Given the description of an element on the screen output the (x, y) to click on. 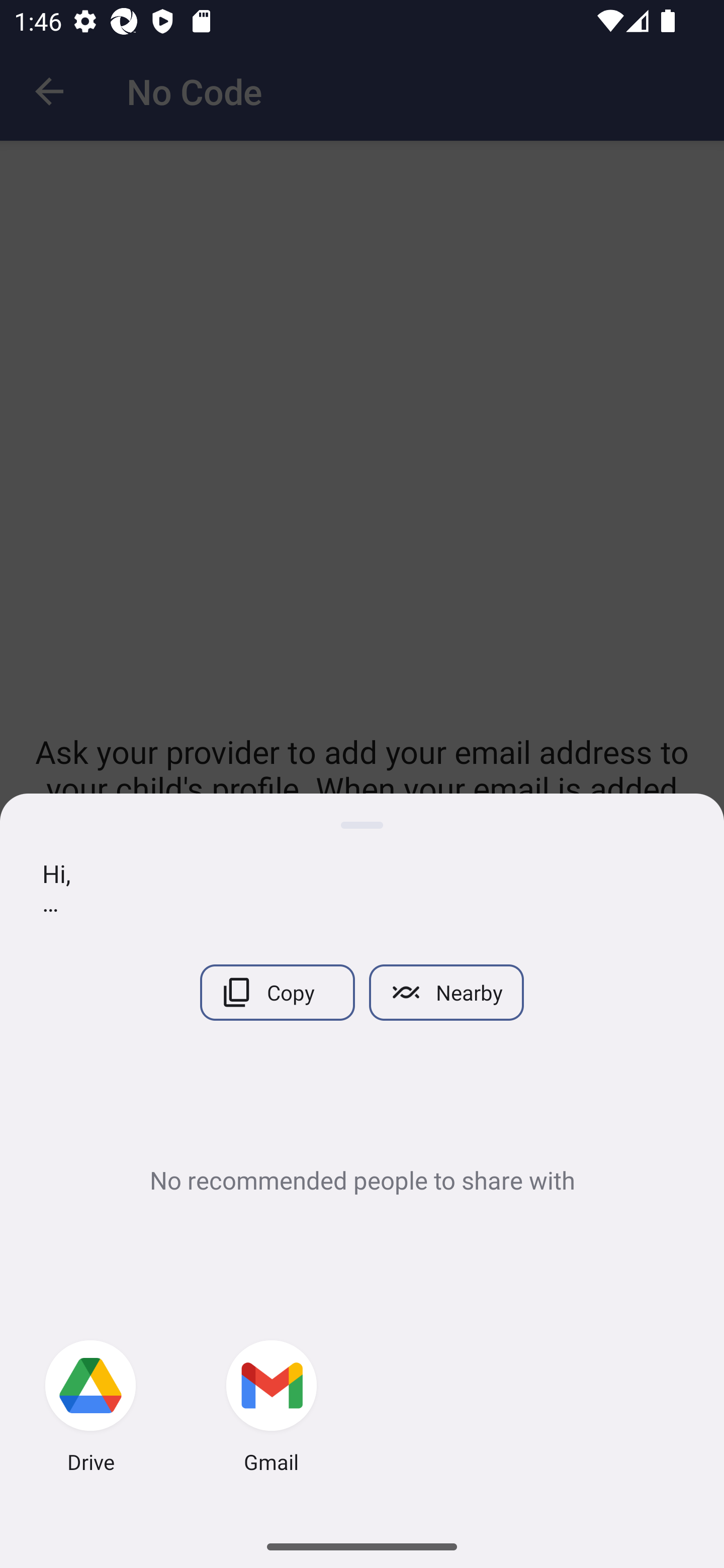
Copy (276, 992)
Nearby (446, 992)
Drive (90, 1409)
Gmail (271, 1409)
